Given the description of an element on the screen output the (x, y) to click on. 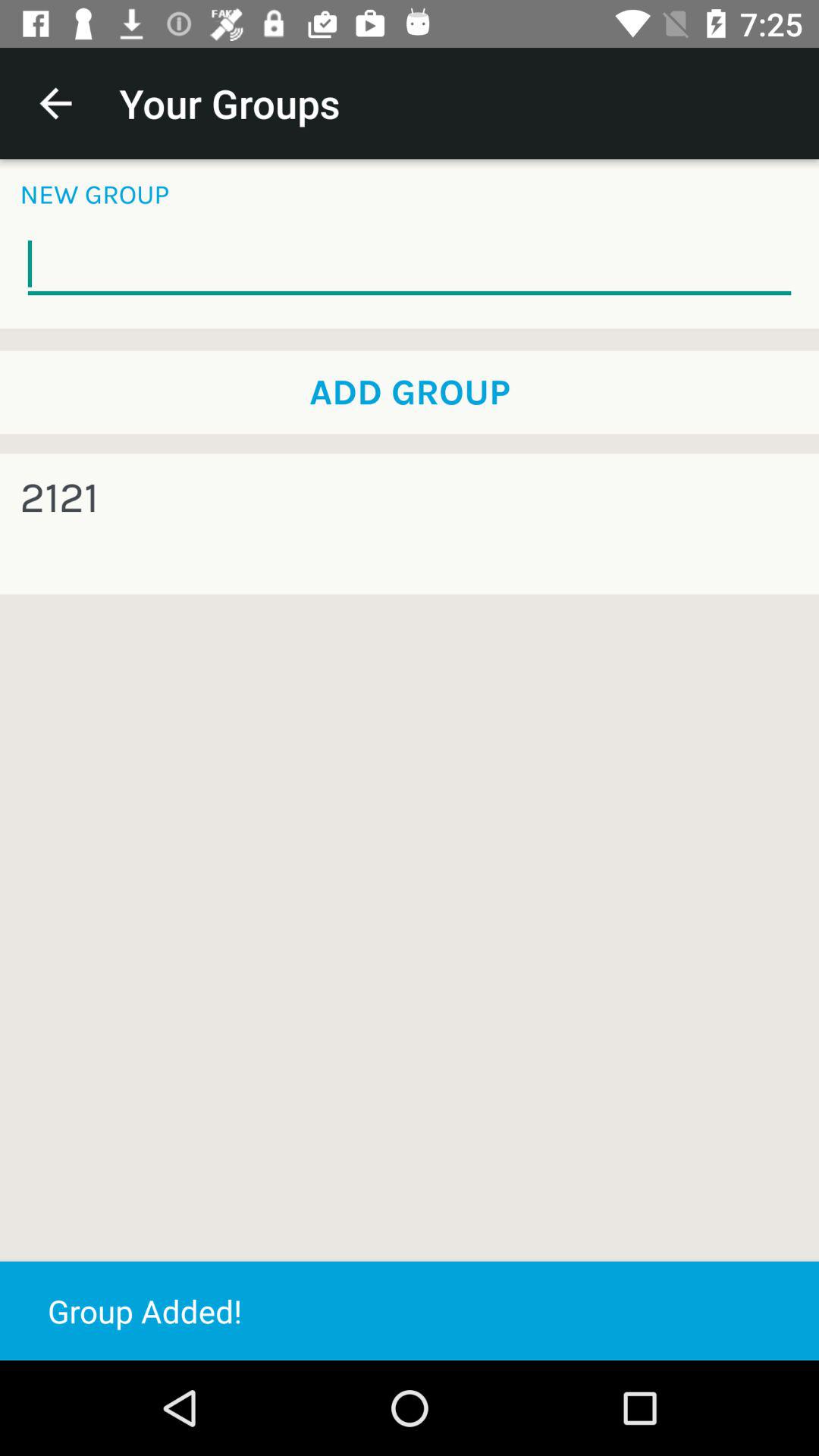
choose the icon below the add group item (58, 497)
